Given the description of an element on the screen output the (x, y) to click on. 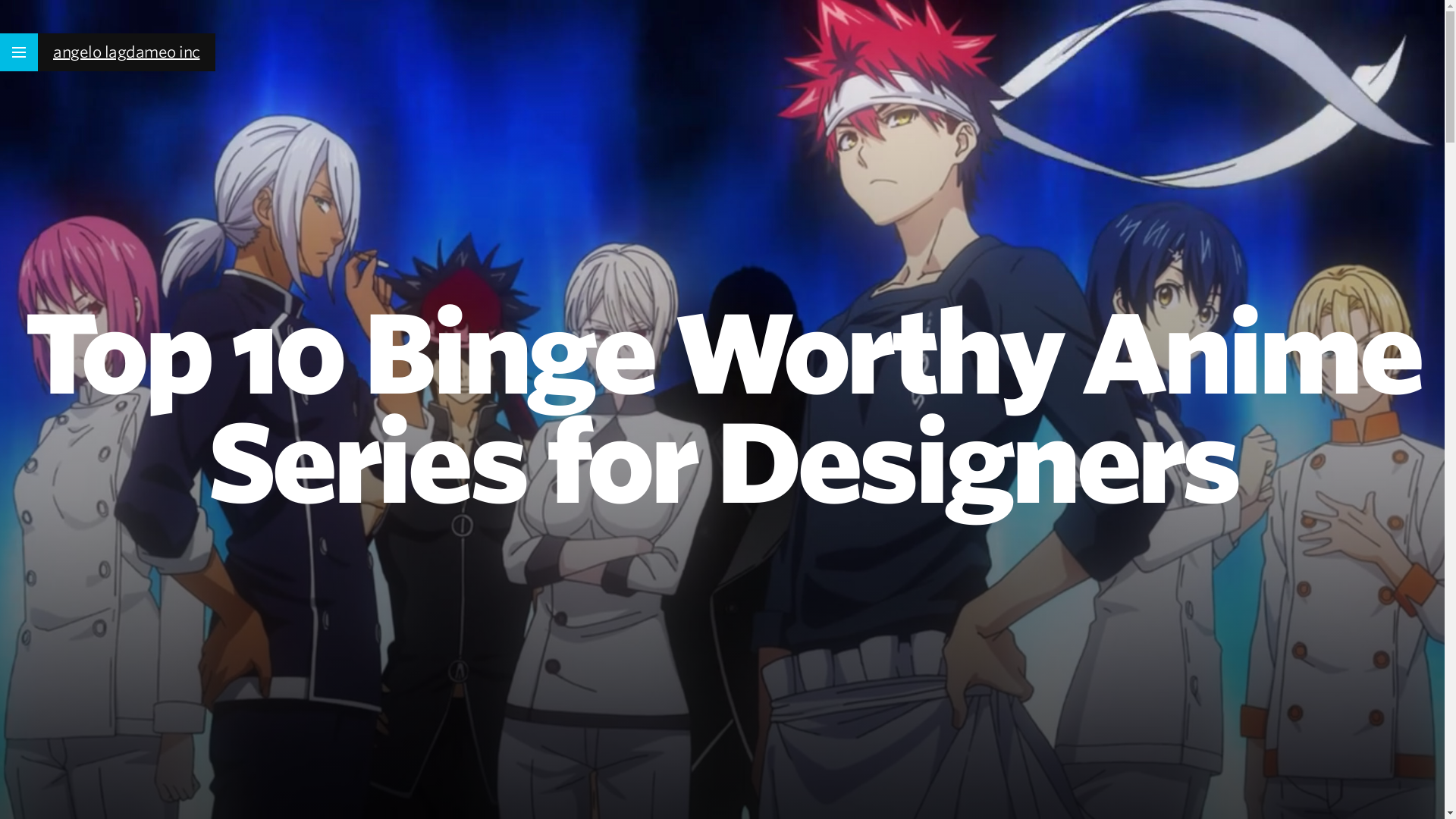
angelo lagdameo inc (126, 52)
